Given the description of an element on the screen output the (x, y) to click on. 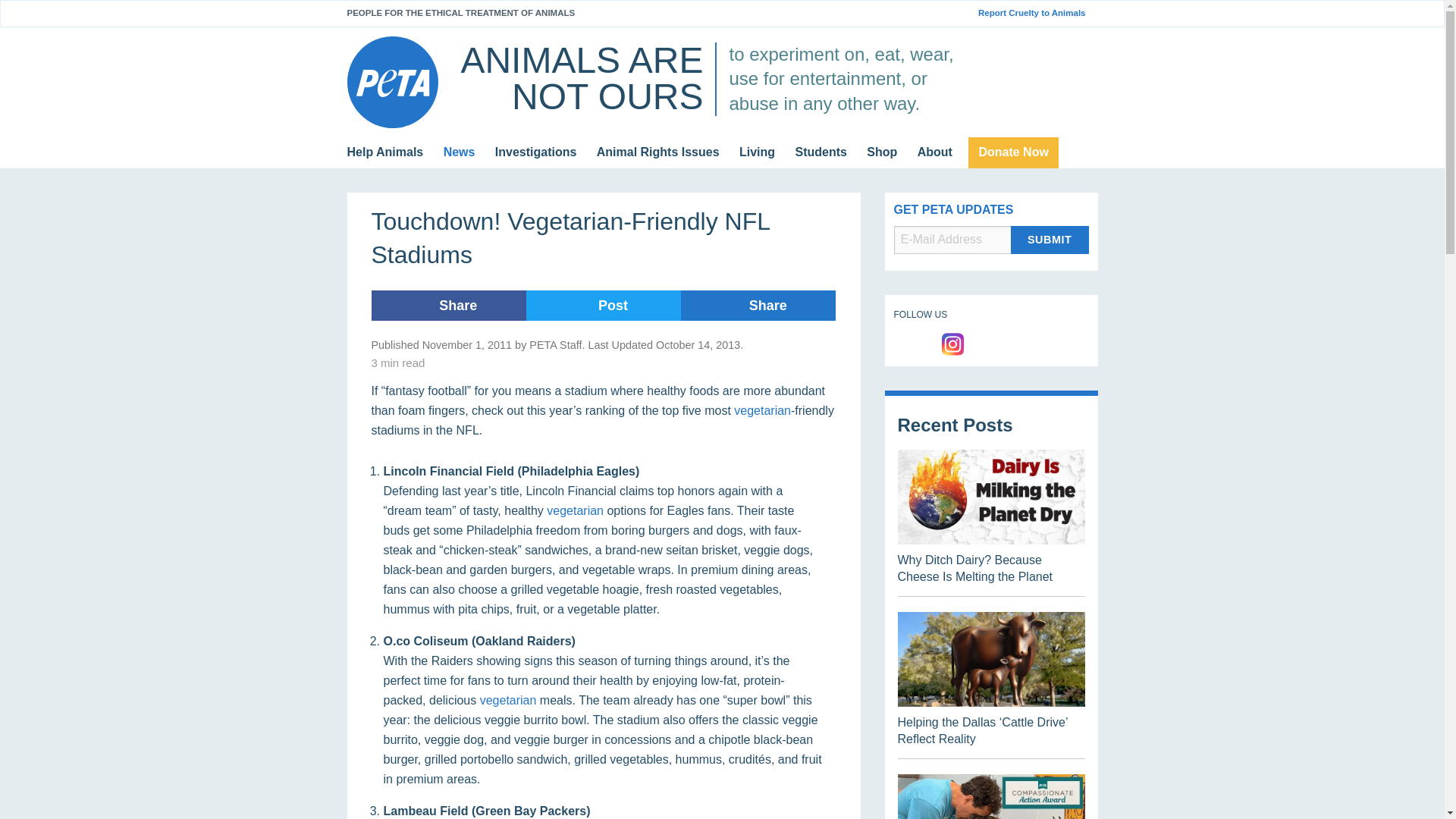
Report Cruelty to Animals (1037, 13)
PEOPLE FOR THE ETHICAL TREATMENT OF ANIMALS (461, 13)
ANIMALS ARE NOT OURS (581, 78)
Submit (1049, 239)
